Given the description of an element on the screen output the (x, y) to click on. 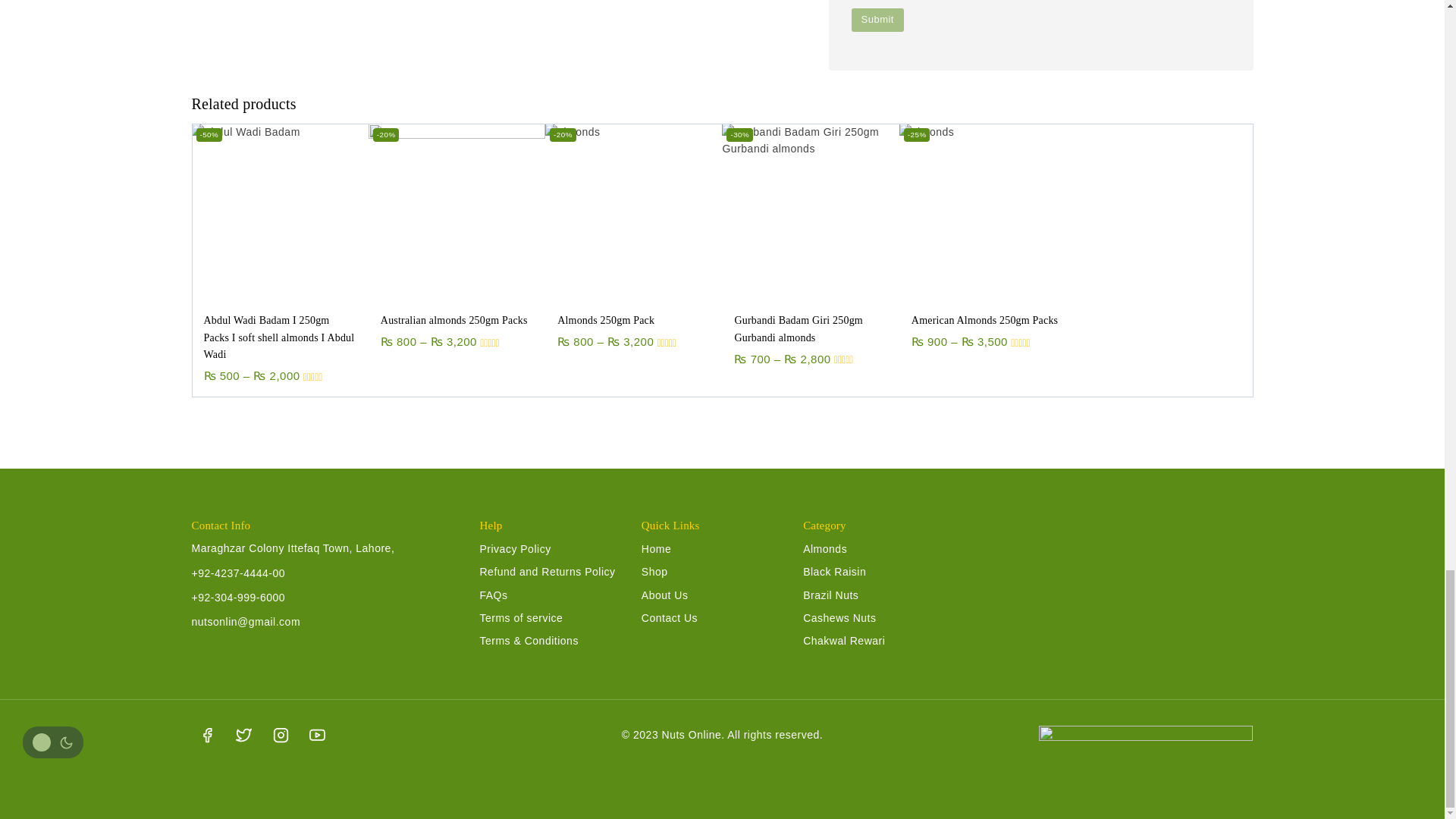
Submit (876, 19)
